Given the description of an element on the screen output the (x, y) to click on. 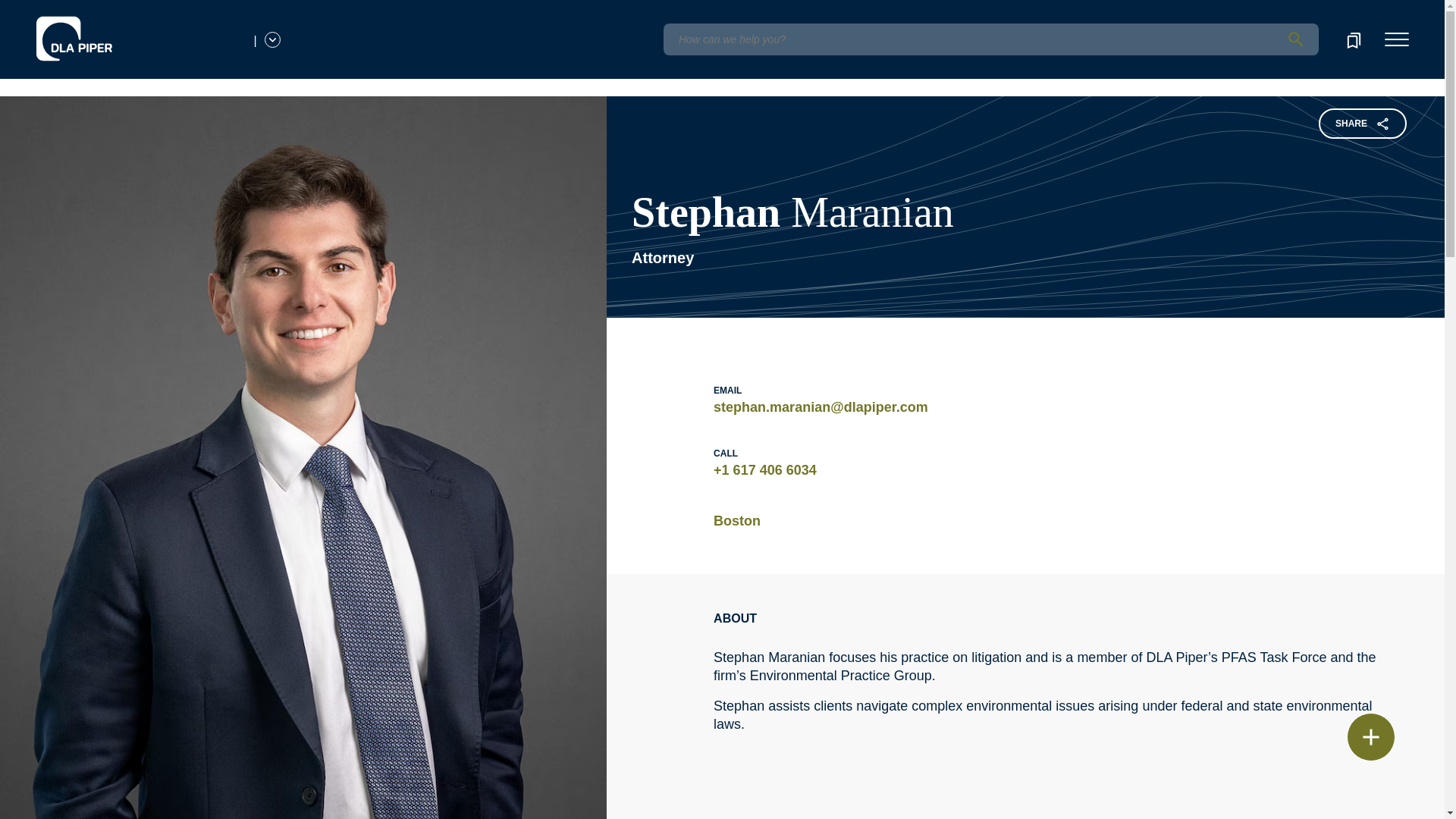
Boston (736, 520)
Insert a query. Press enter to send (990, 39)
